Given the description of an element on the screen output the (x, y) to click on. 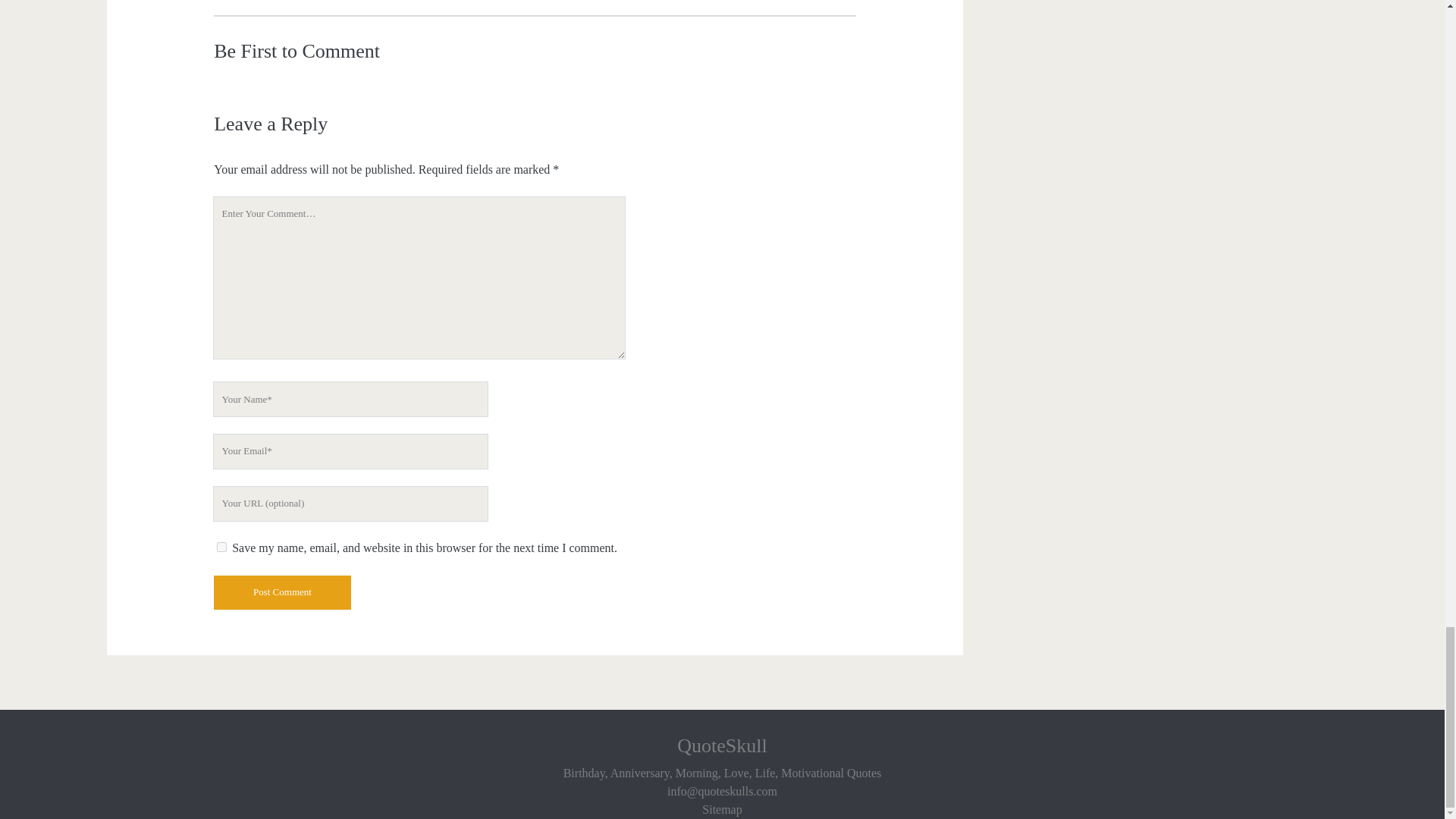
yes (221, 547)
Post Comment (282, 592)
Post Comment (282, 592)
